Given the description of an element on the screen output the (x, y) to click on. 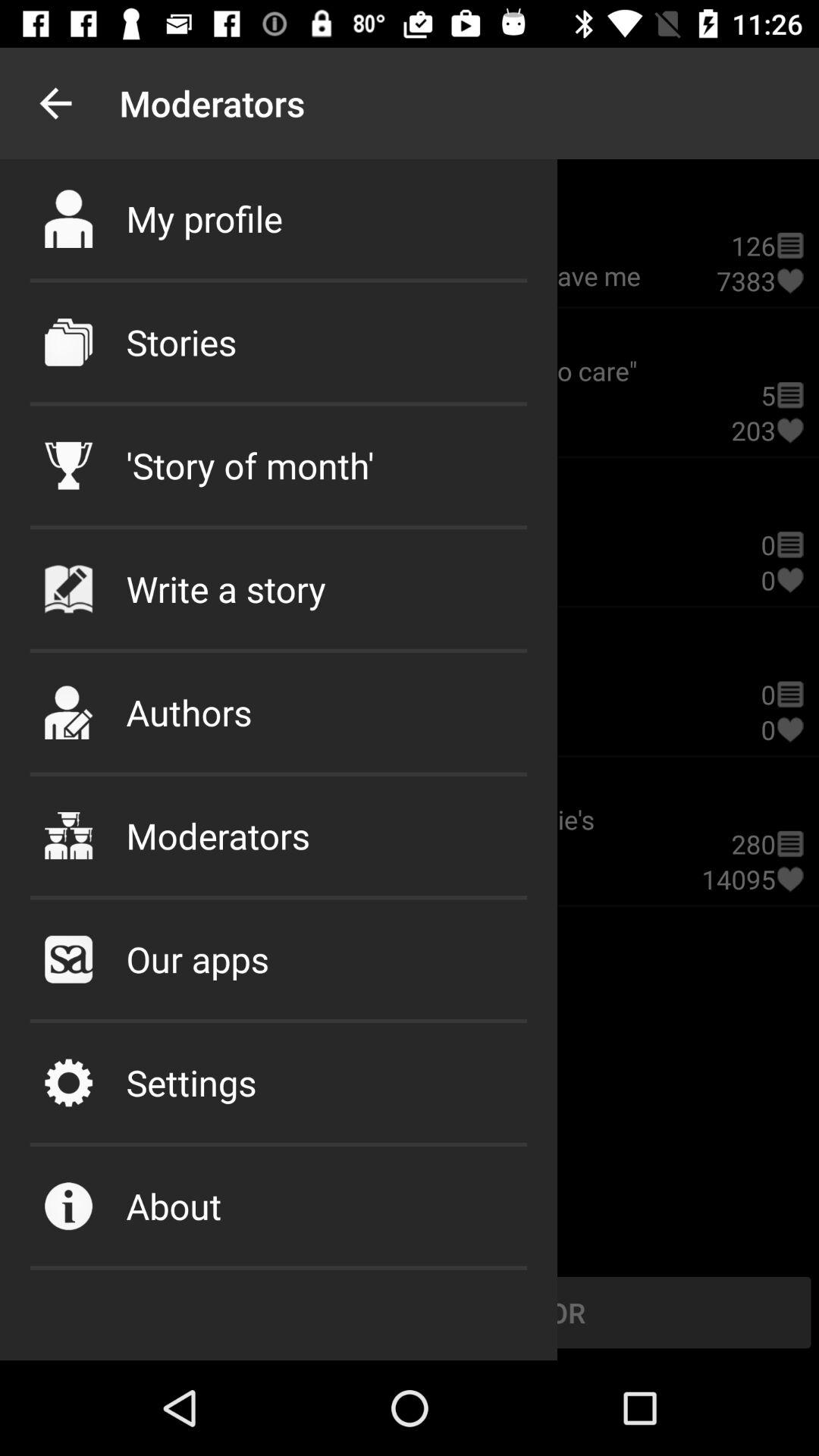
go to right of authors (789, 729)
move to icon which is left to about (68, 1206)
